Given the description of an element on the screen output the (x, y) to click on. 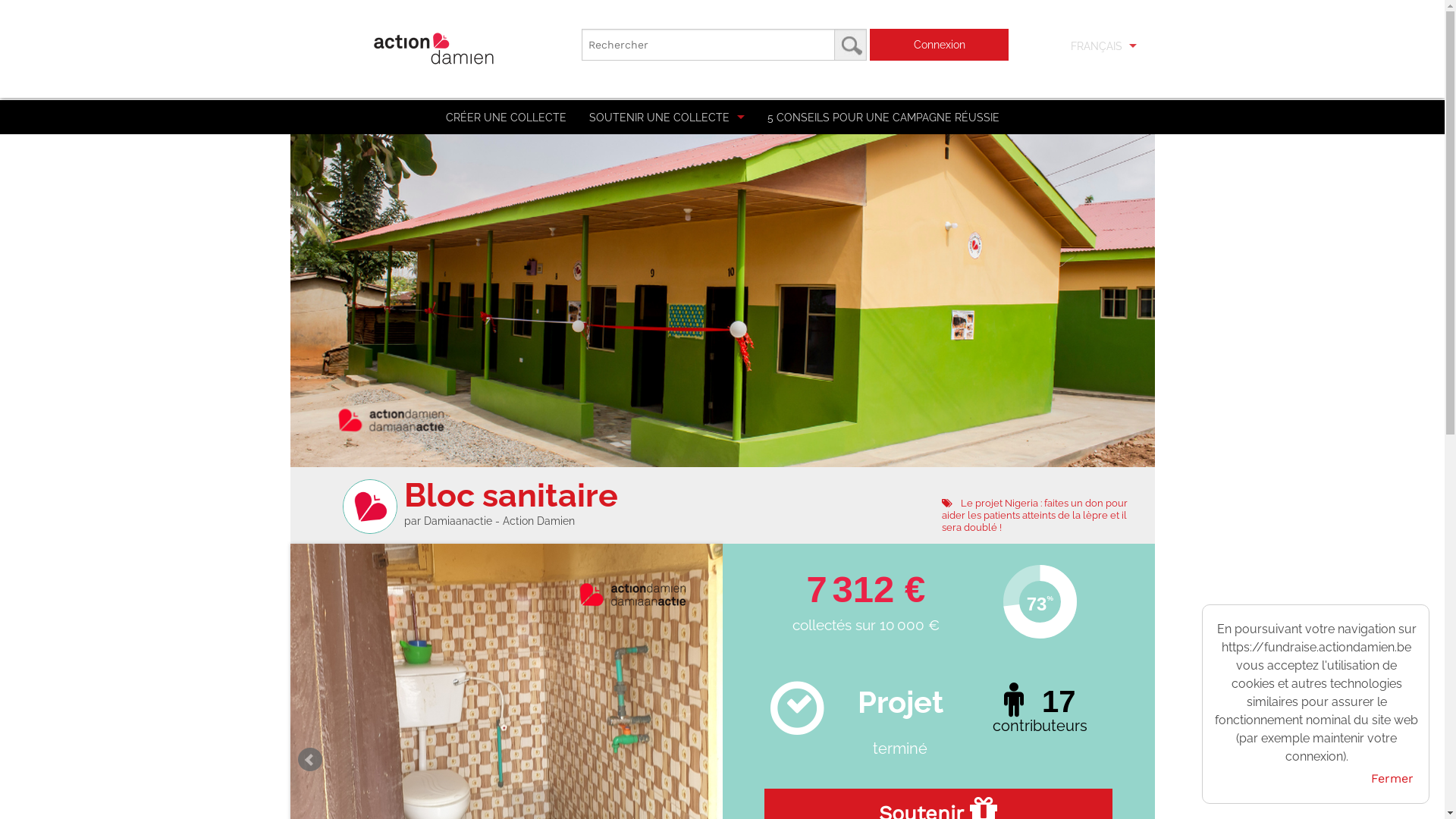
MARIAGE Element type: text (680, 287)
Connexion Element type: text (938, 44)
NAISSANCE Element type: text (680, 219)
SOUTENIR UNE COLLECTE Element type: text (666, 117)
EVENTS Element type: text (680, 185)
NEDERLANDS Element type: text (1093, 79)
ANNIVERSAIRE Element type: text (680, 253)
